Given the description of an element on the screen output the (x, y) to click on. 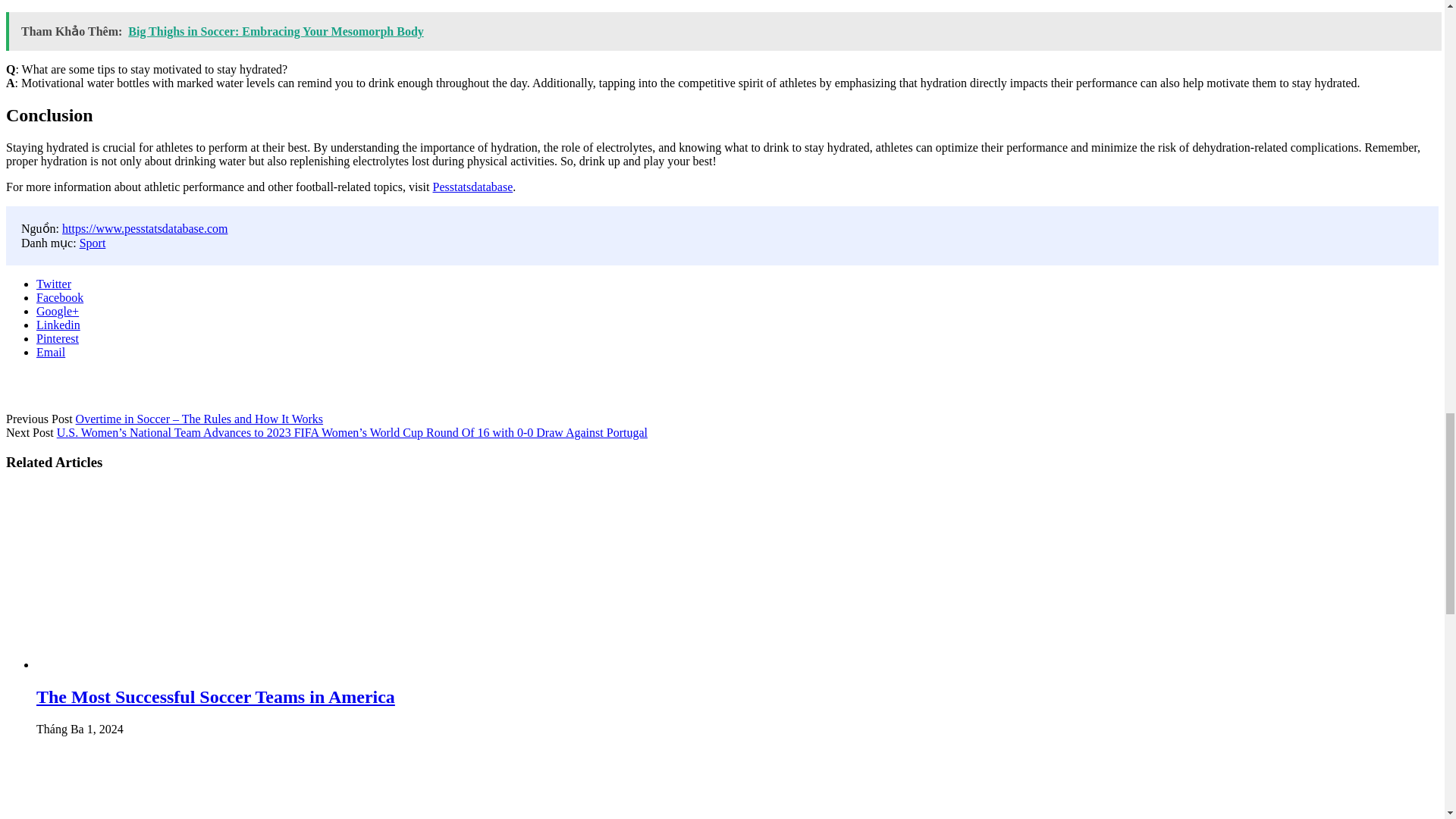
Pesstatsdatabase (472, 186)
Facebook (59, 297)
The Most Successful Soccer Teams in America (215, 696)
Twitter (53, 283)
Linkedin (58, 324)
Sport (93, 242)
Email (50, 351)
Pinterest (57, 338)
